Given the description of an element on the screen output the (x, y) to click on. 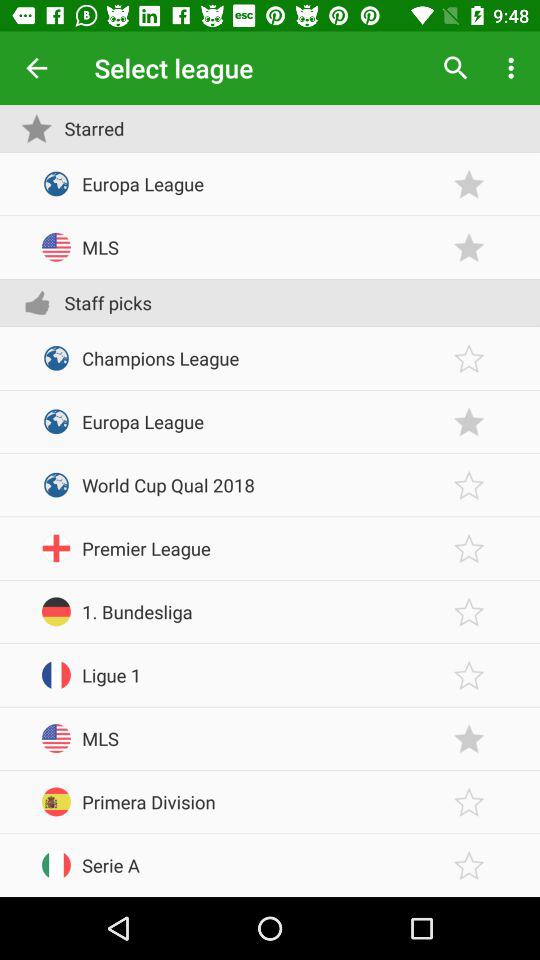
select favorite team (469, 801)
